Given the description of an element on the screen output the (x, y) to click on. 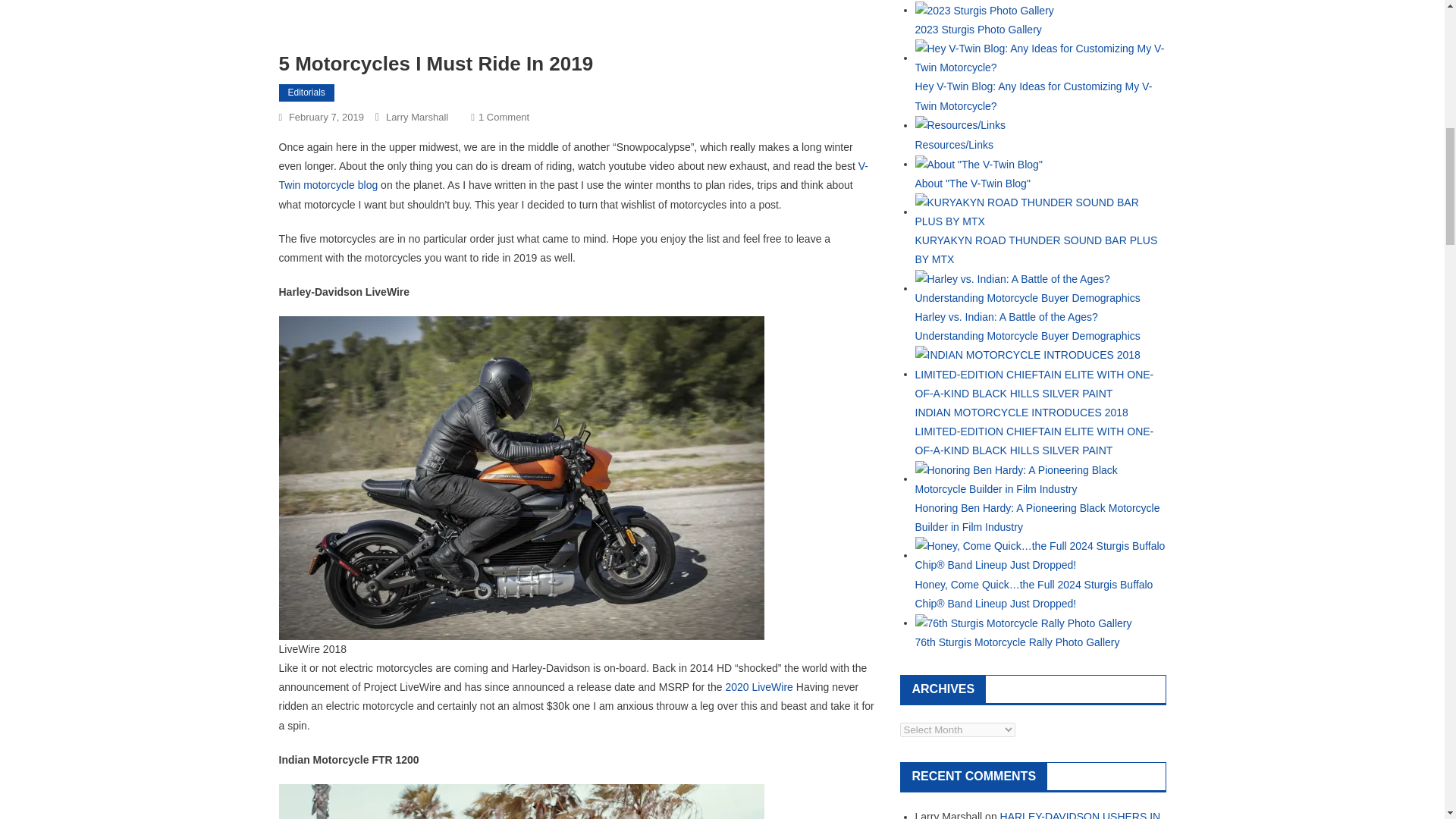
About "The V-Twin Blog" (504, 116)
2023 Sturgis Photo Gallery (978, 163)
KURYAKYN ROAD THUNDER SOUND BAR PLUS BY MTX (977, 29)
2023 Sturgis Photo Gallery (1040, 211)
2020 LiveWire (983, 9)
V-Twin motorcycle blog  (759, 686)
Larry Marshall (574, 174)
February 7, 2019 (416, 116)
About "The V-Twin Blog" (326, 116)
KURYAKYN ROAD THUNDER SOUND BAR PLUS BY MTX (971, 183)
Editorials (1035, 249)
